Given the description of an element on the screen output the (x, y) to click on. 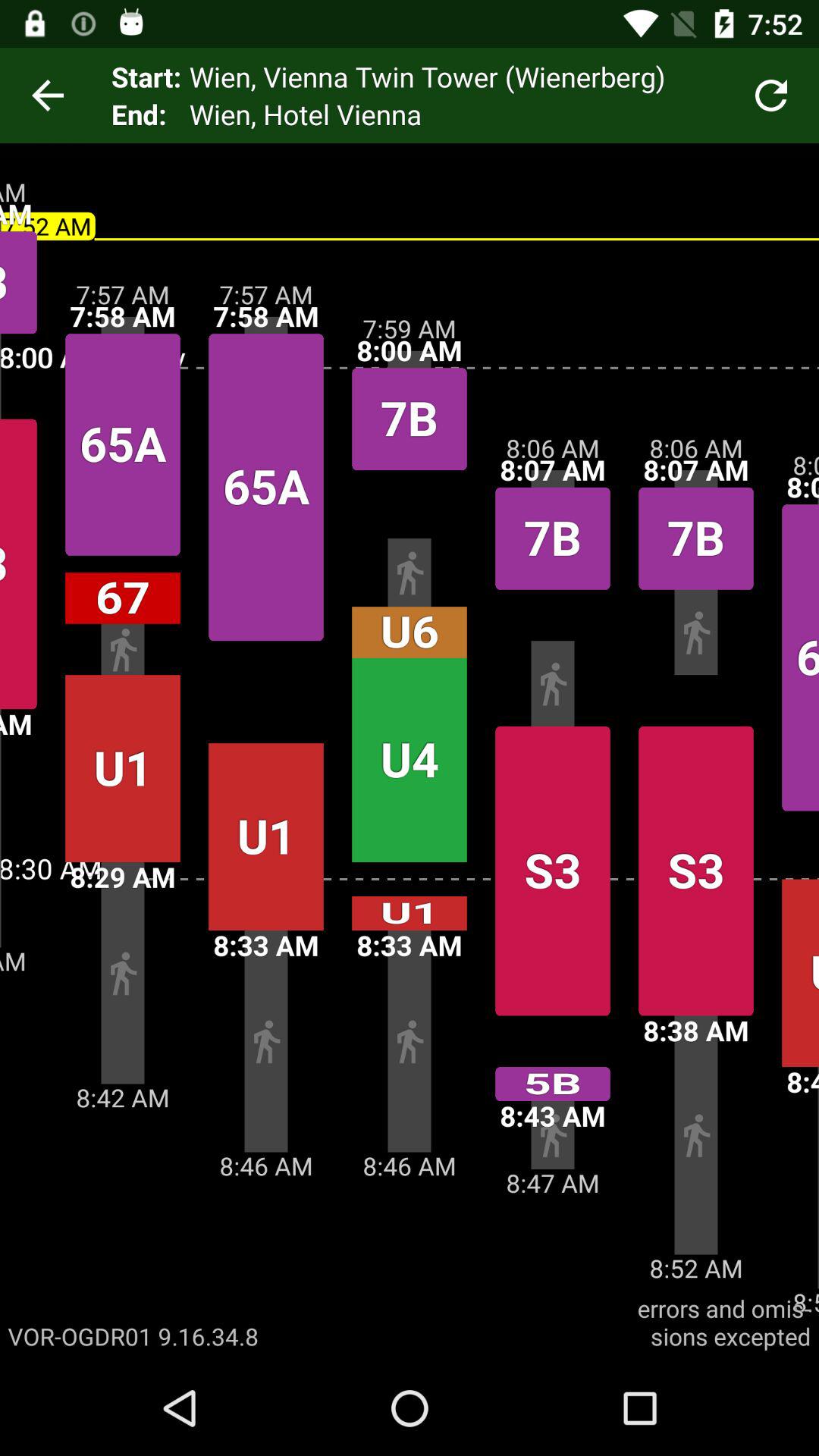
select item to the left of the start: item (47, 95)
